Given the description of an element on the screen output the (x, y) to click on. 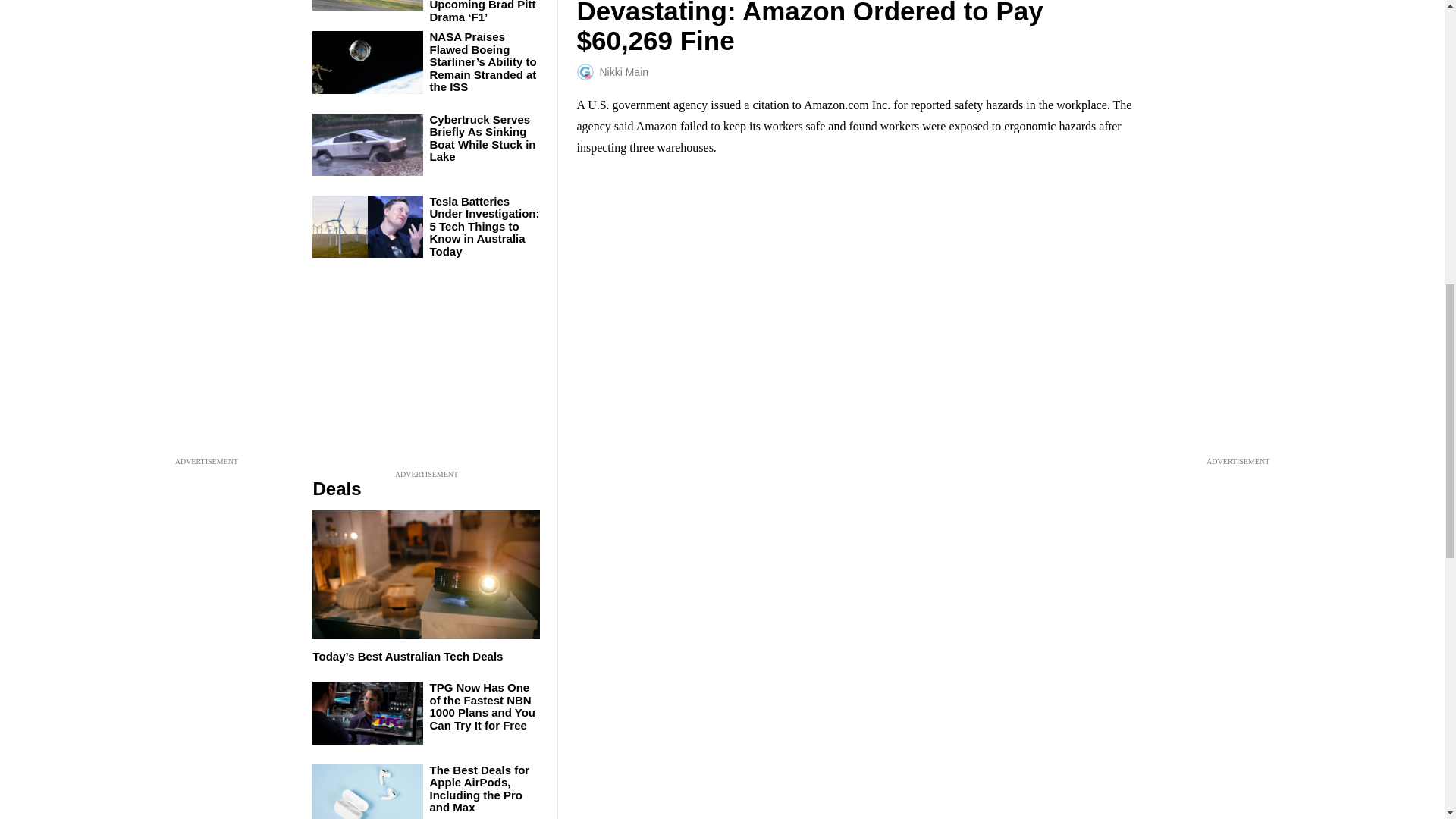
3rd party ad content (426, 372)
